Given the description of an element on the screen output the (x, y) to click on. 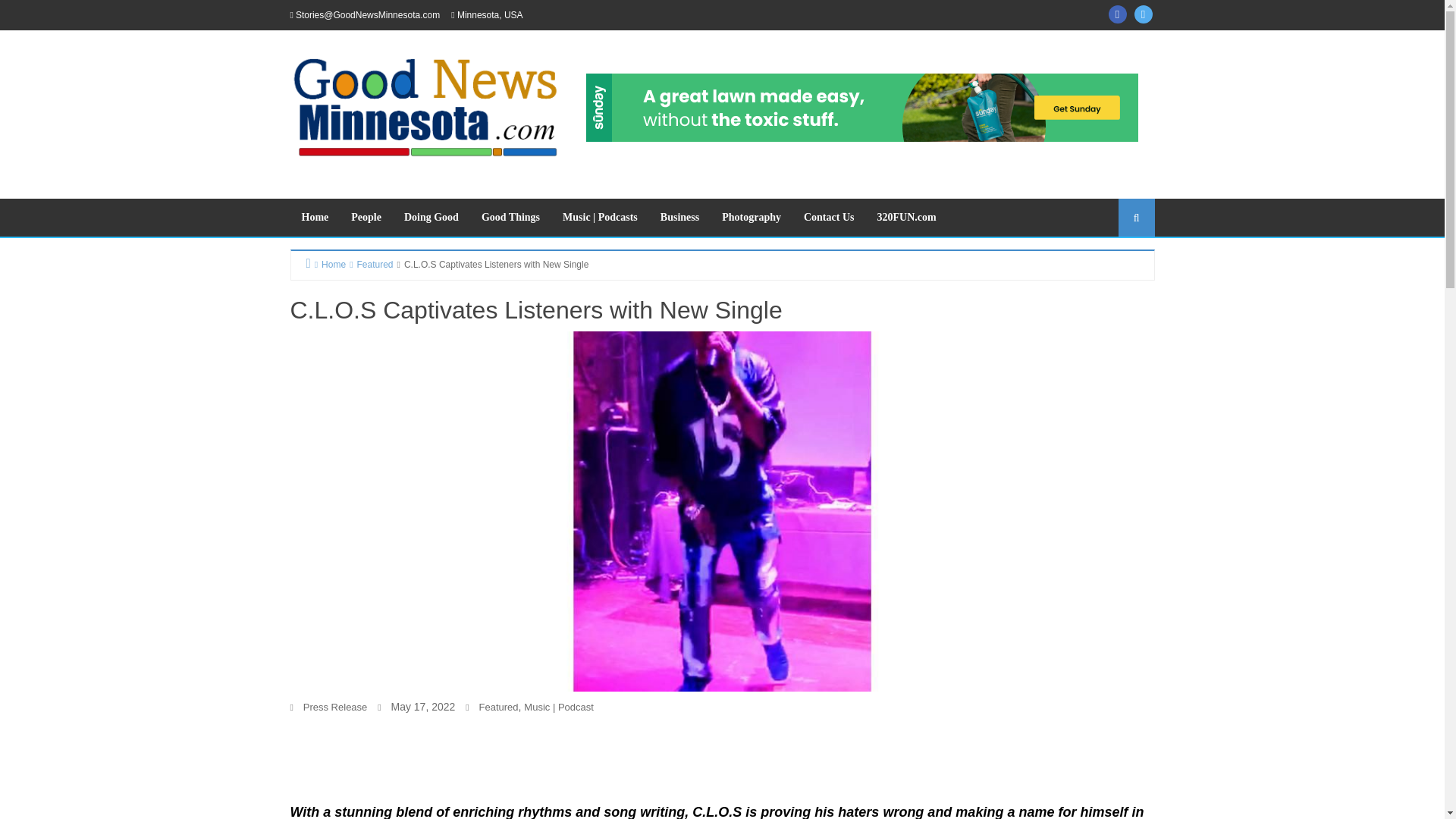
Home (314, 217)
Tuesday, May 17, 2022, 8:19 pm (423, 706)
Featured (369, 264)
People (366, 217)
320FUN.com (905, 217)
Contact Us (829, 217)
Featured (498, 706)
Doing Good (431, 217)
Posts by Press Release (335, 706)
Good Things (510, 217)
